Given the description of an element on the screen output the (x, y) to click on. 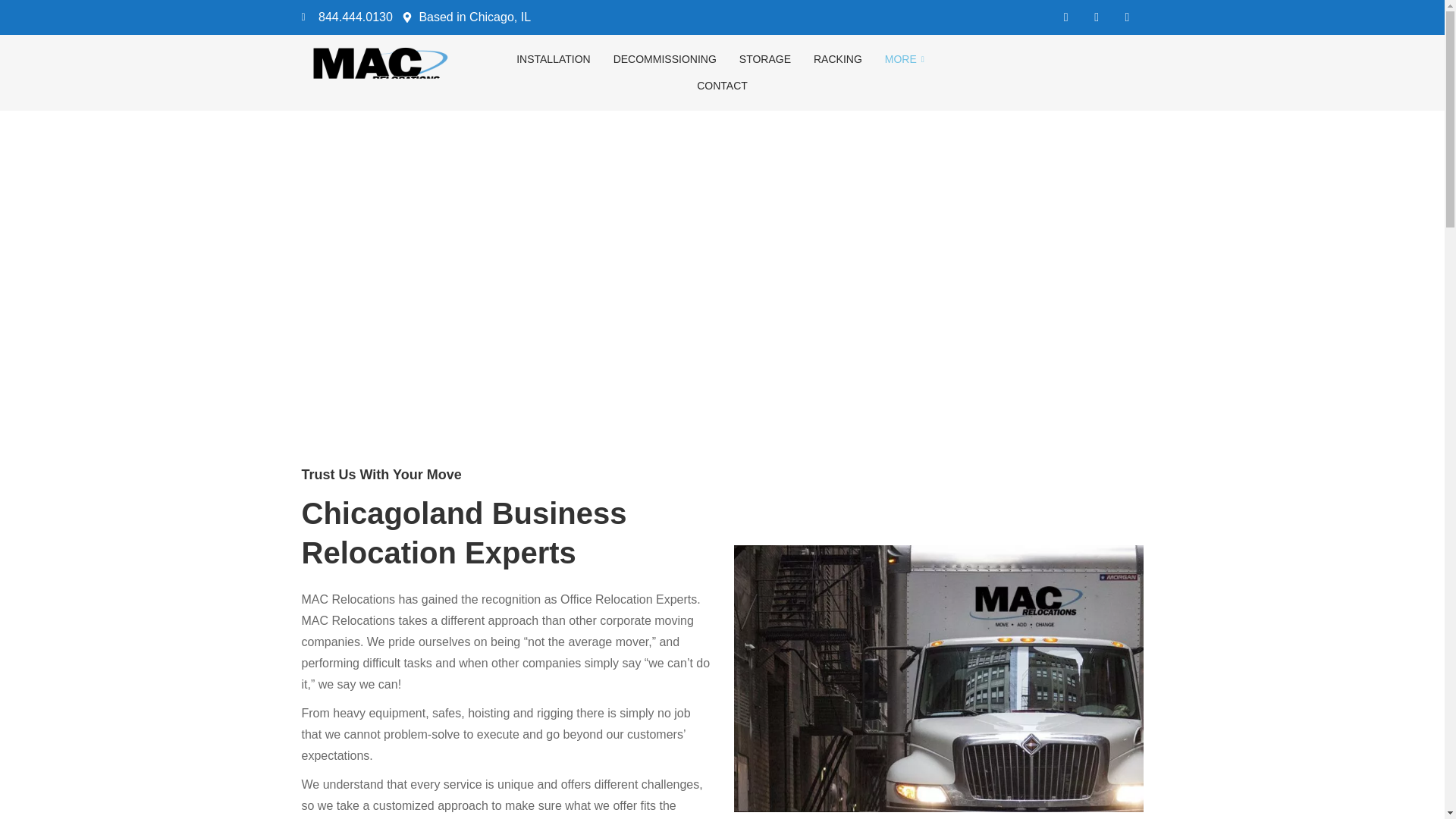
844.444.0130 (347, 17)
RACKING (837, 58)
STORAGE (765, 58)
DECOMMISSIONING (665, 58)
INSTALLATION (553, 58)
MORE (906, 58)
CONTACT (721, 85)
